Given the description of an element on the screen output the (x, y) to click on. 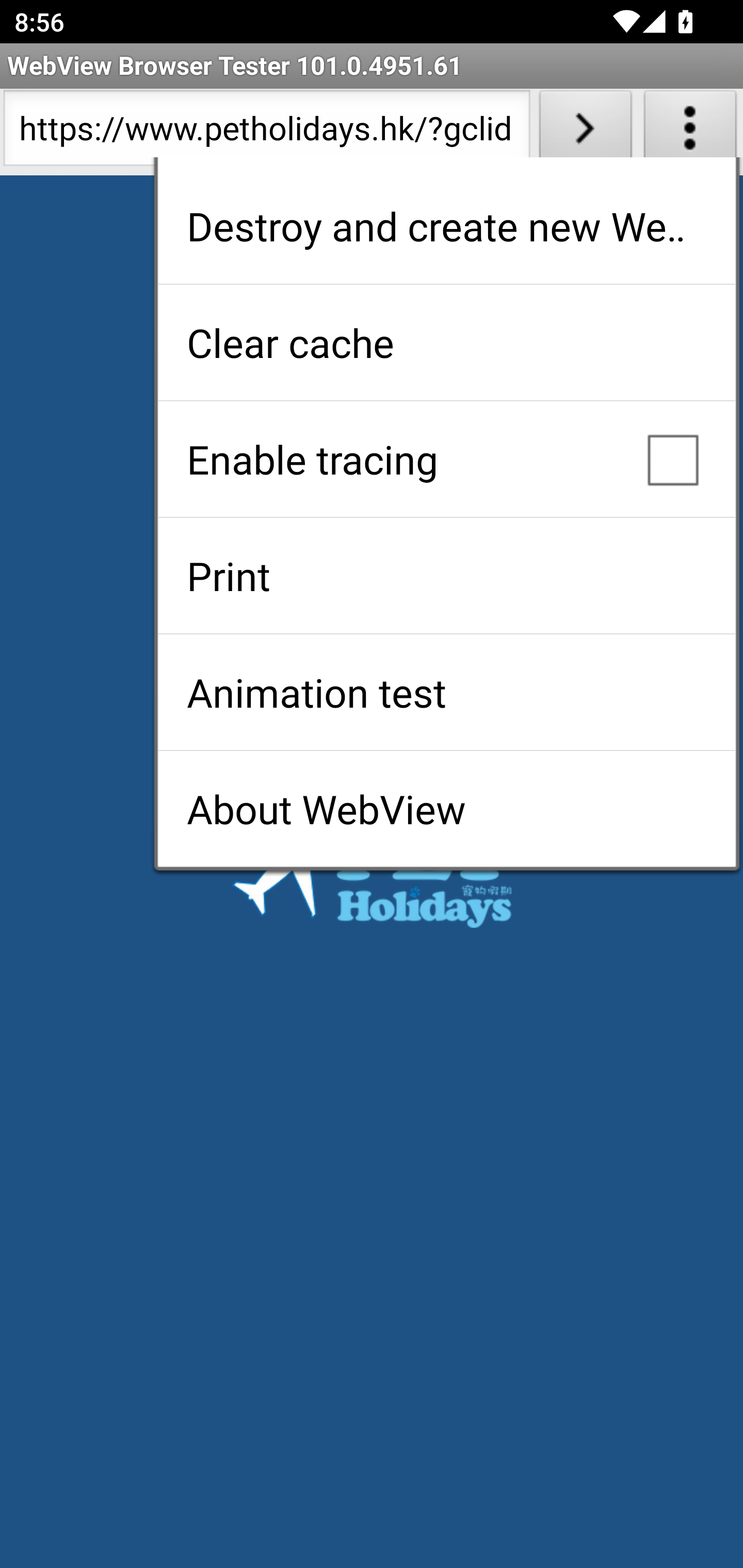
Destroy and create new WebView (446, 225)
Clear cache (446, 342)
Enable tracing (446, 459)
Print (446, 575)
Animation test (446, 692)
About WebView (446, 809)
